Given the description of an element on the screen output the (x, y) to click on. 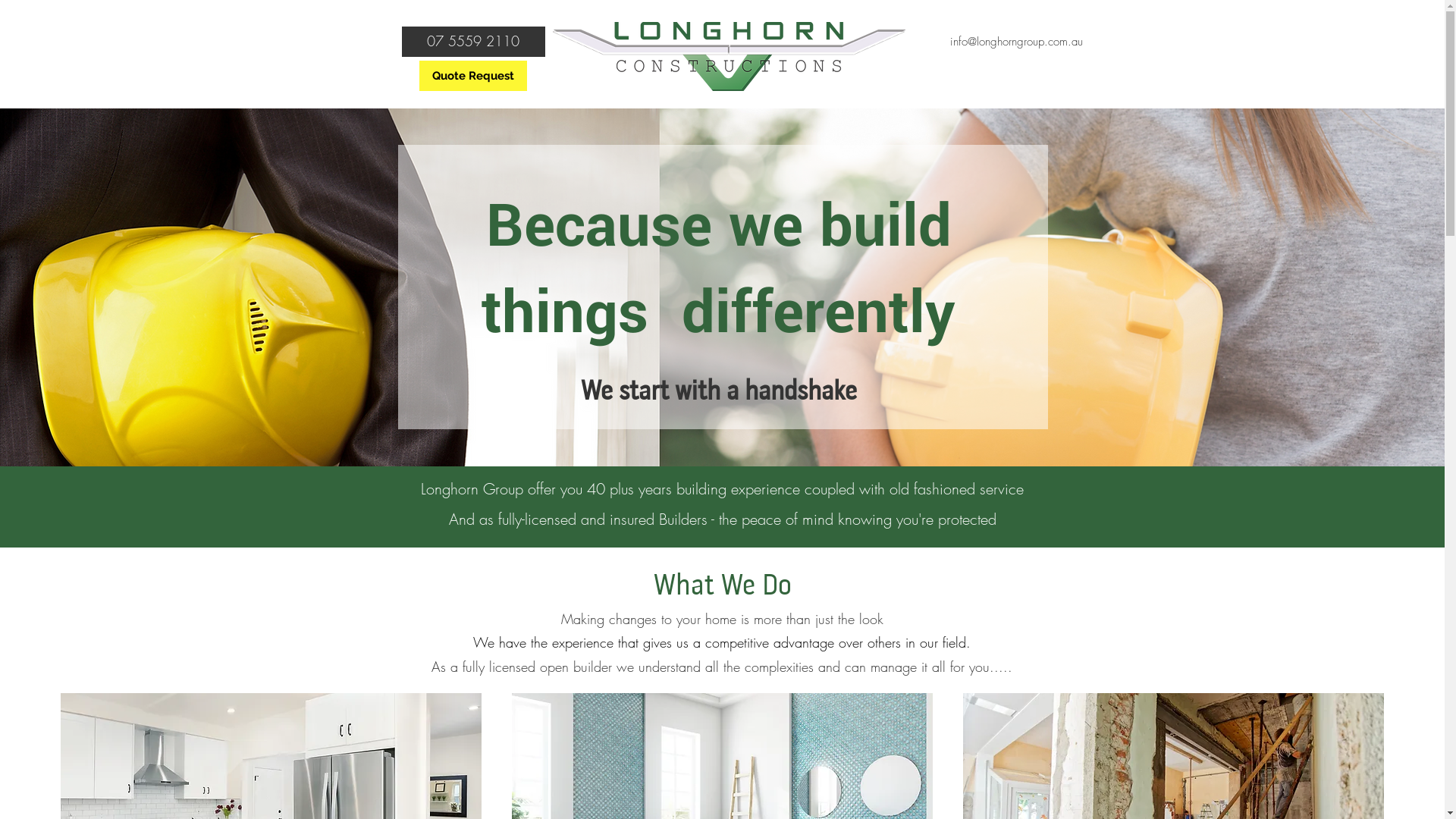
Home Element type: text (728, 118)
info@longhorngroup.com.au Element type: text (1015, 41)
Quote Request Element type: text (472, 75)
07 5559 2110 Element type: text (473, 41)
